Given the description of an element on the screen output the (x, y) to click on. 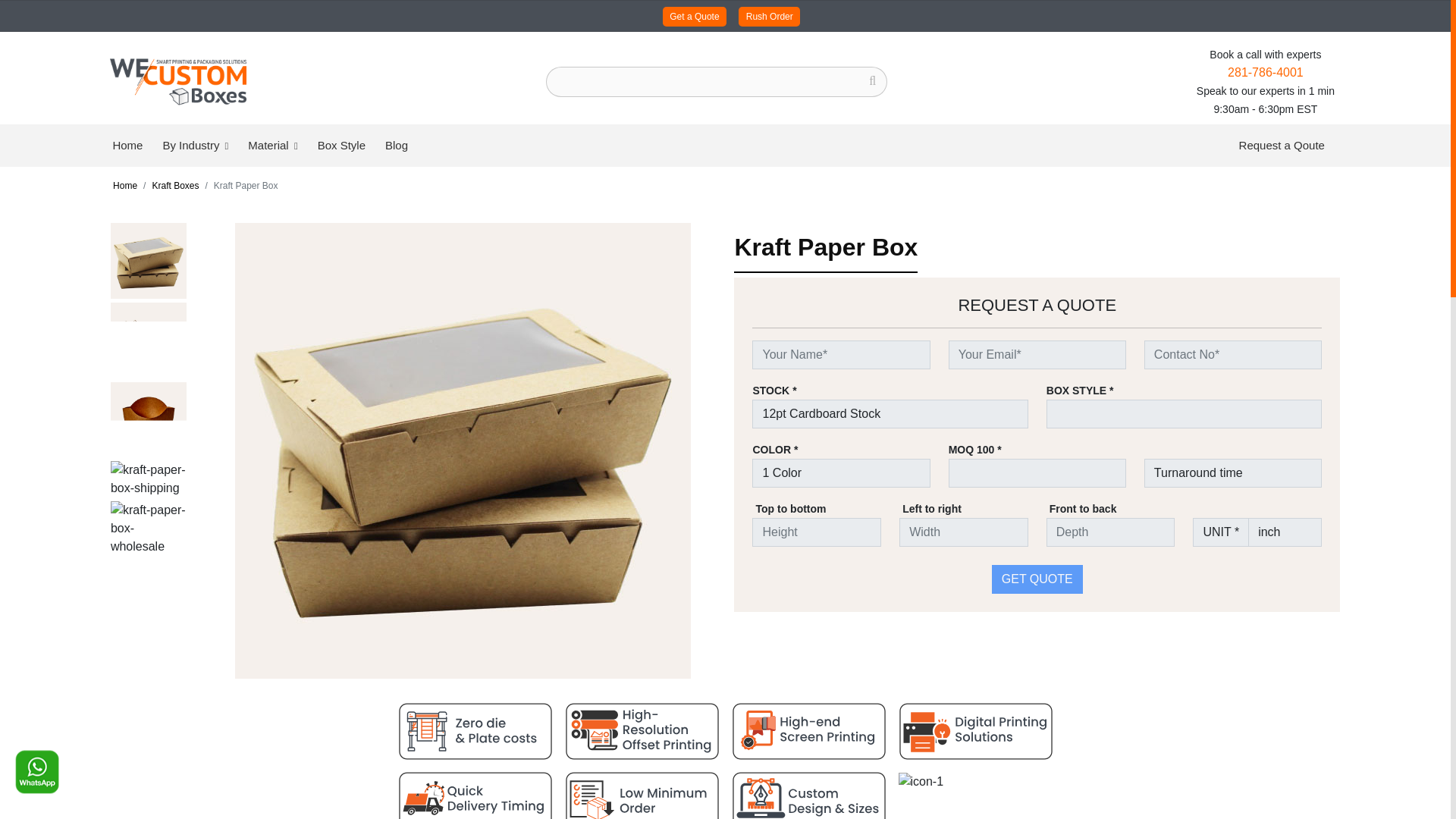
Get a Quote (694, 16)
281-786-4001 (1265, 72)
Rush Order (768, 16)
GET QUOTE (1037, 579)
